Given the description of an element on the screen output the (x, y) to click on. 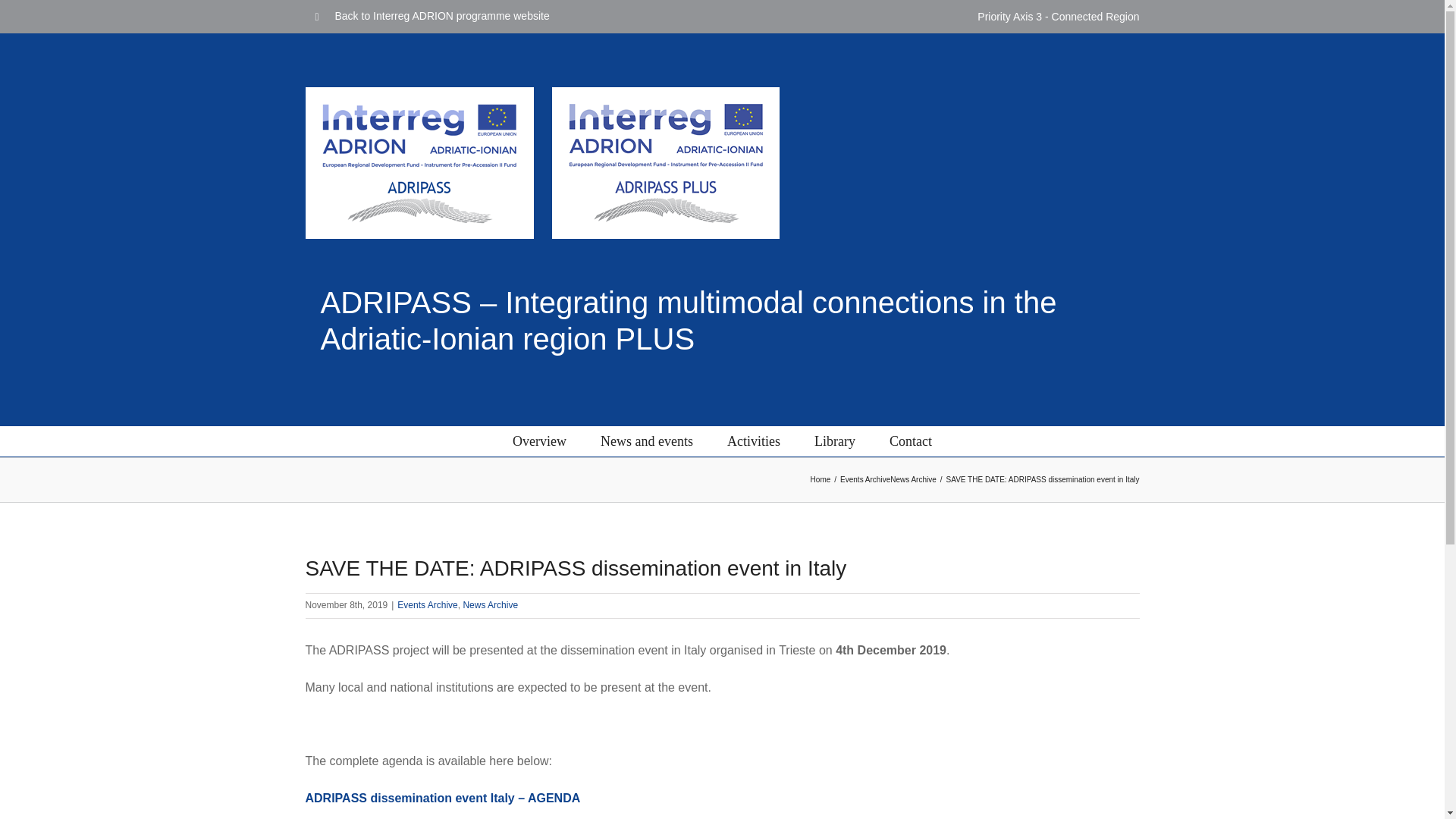
Back to Interreg ADRION programme website (431, 16)
News Archive (912, 479)
Library (834, 440)
News and events (646, 440)
Activities (753, 440)
Events Archive (864, 479)
Events Archive (427, 604)
News Archive (490, 604)
Overview (539, 440)
Home (820, 479)
Contact (910, 440)
